Given the description of an element on the screen output the (x, y) to click on. 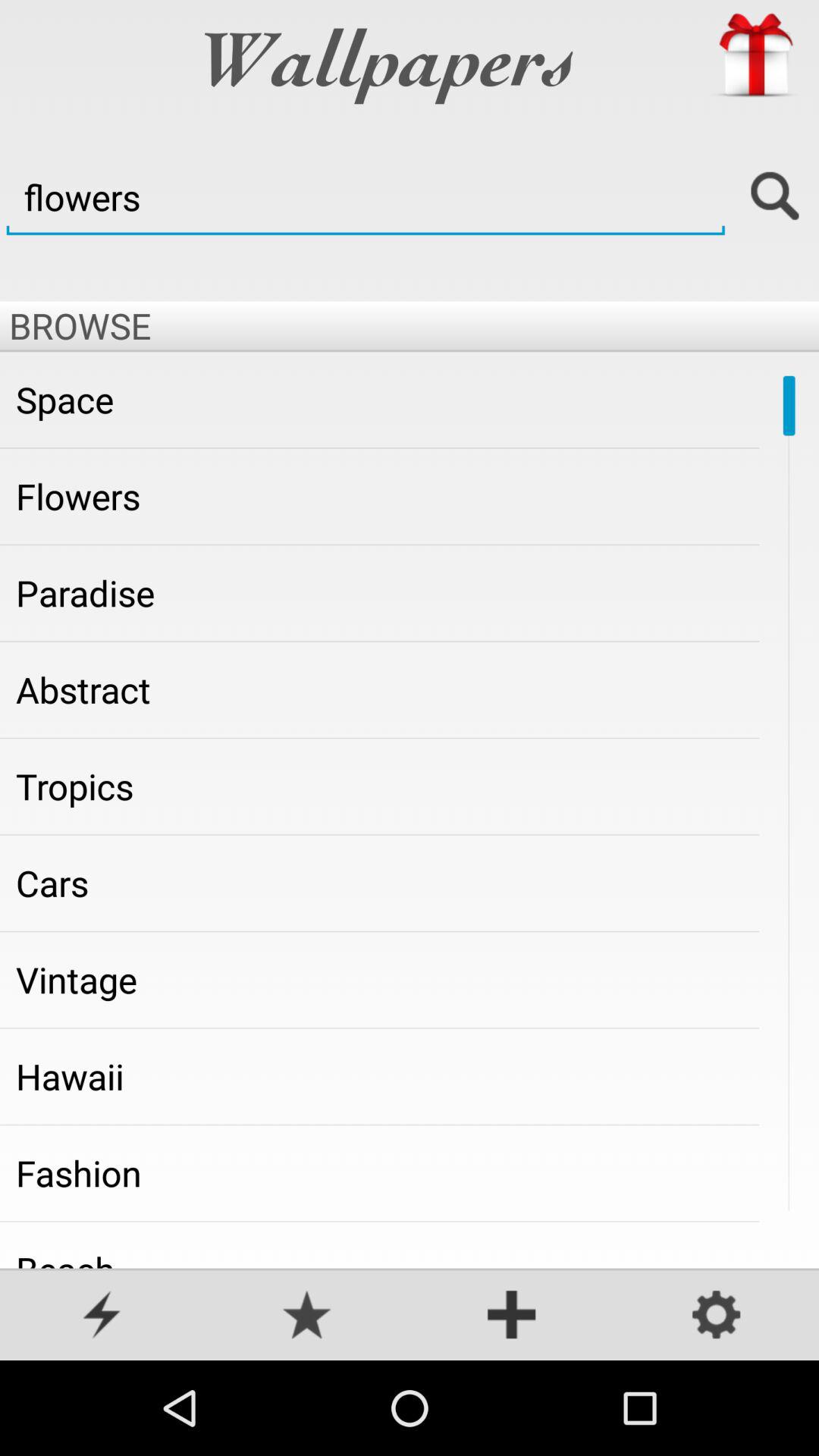
see more options (511, 1316)
